Given the description of an element on the screen output the (x, y) to click on. 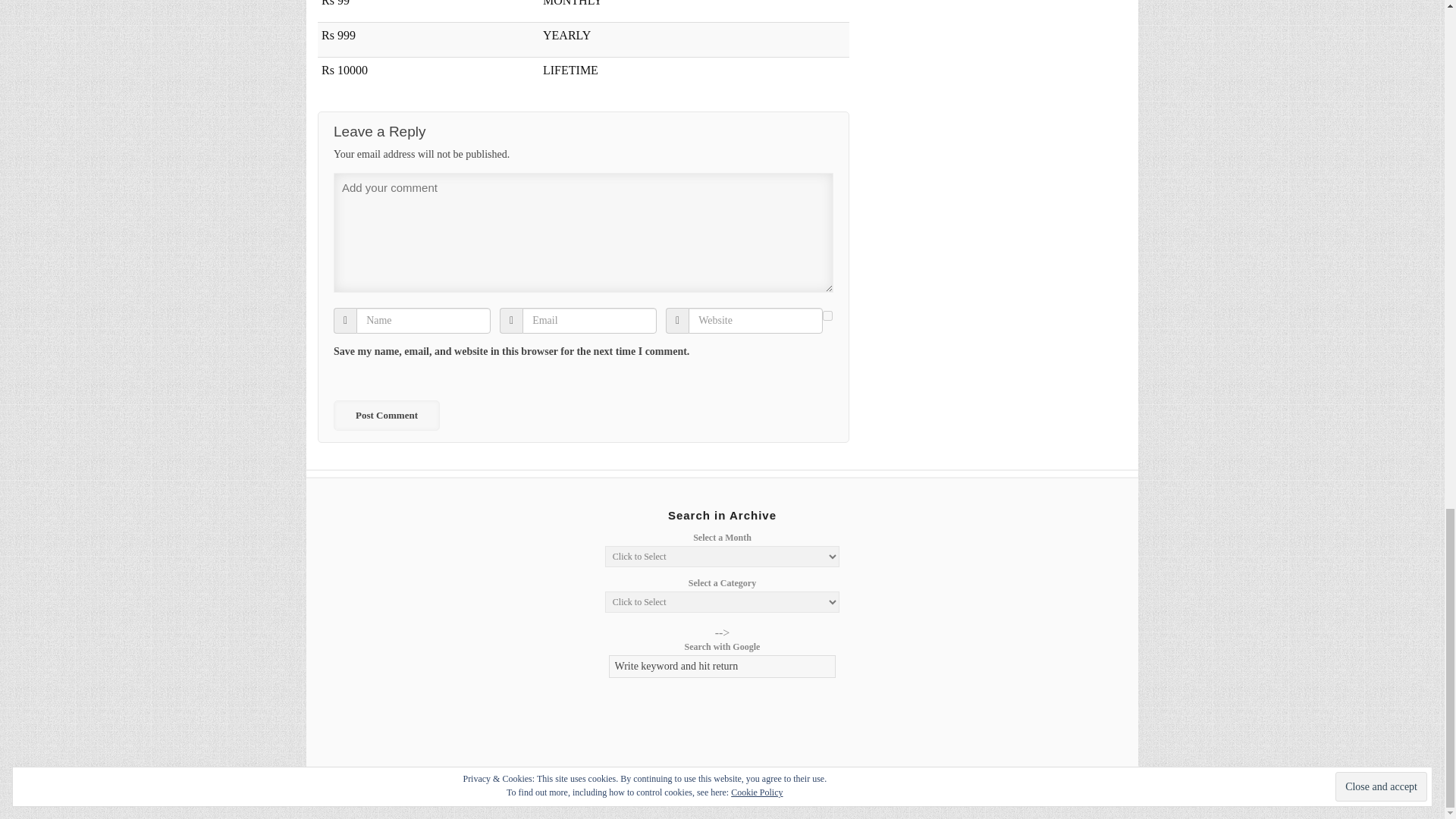
Post Comment (386, 415)
WordPress Newspaper Themes (1097, 790)
Kashmir Reader (381, 790)
Write keyword and hit return (721, 666)
Semantic Personal Publishing Platform (1017, 790)
yes (827, 316)
